Given the description of an element on the screen output the (x, y) to click on. 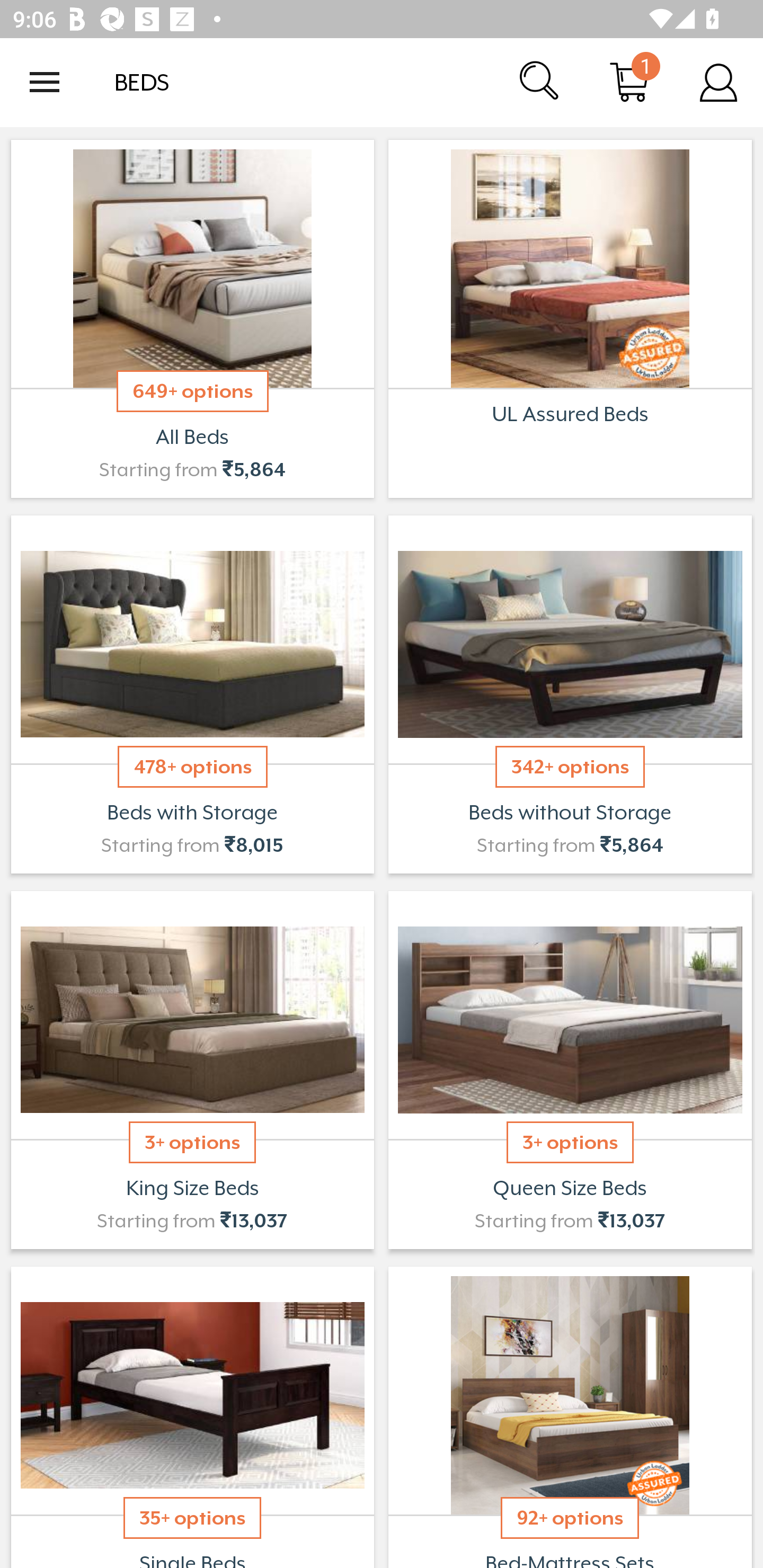
Open navigation drawer (44, 82)
Search (540, 81)
Cart (629, 81)
Account Details (718, 81)
649+ options All Beds Starting from  ₹5,864 (191, 318)
UL Assured Beds (570, 318)
3+ options King Size Beds Starting from  ₹13,037 (191, 1069)
3+ options Queen Size Beds Starting from  ₹13,037 (570, 1069)
35+ options Single Beds (191, 1415)
92+ options Bed-Mattress Sets (570, 1415)
